Given the description of an element on the screen output the (x, y) to click on. 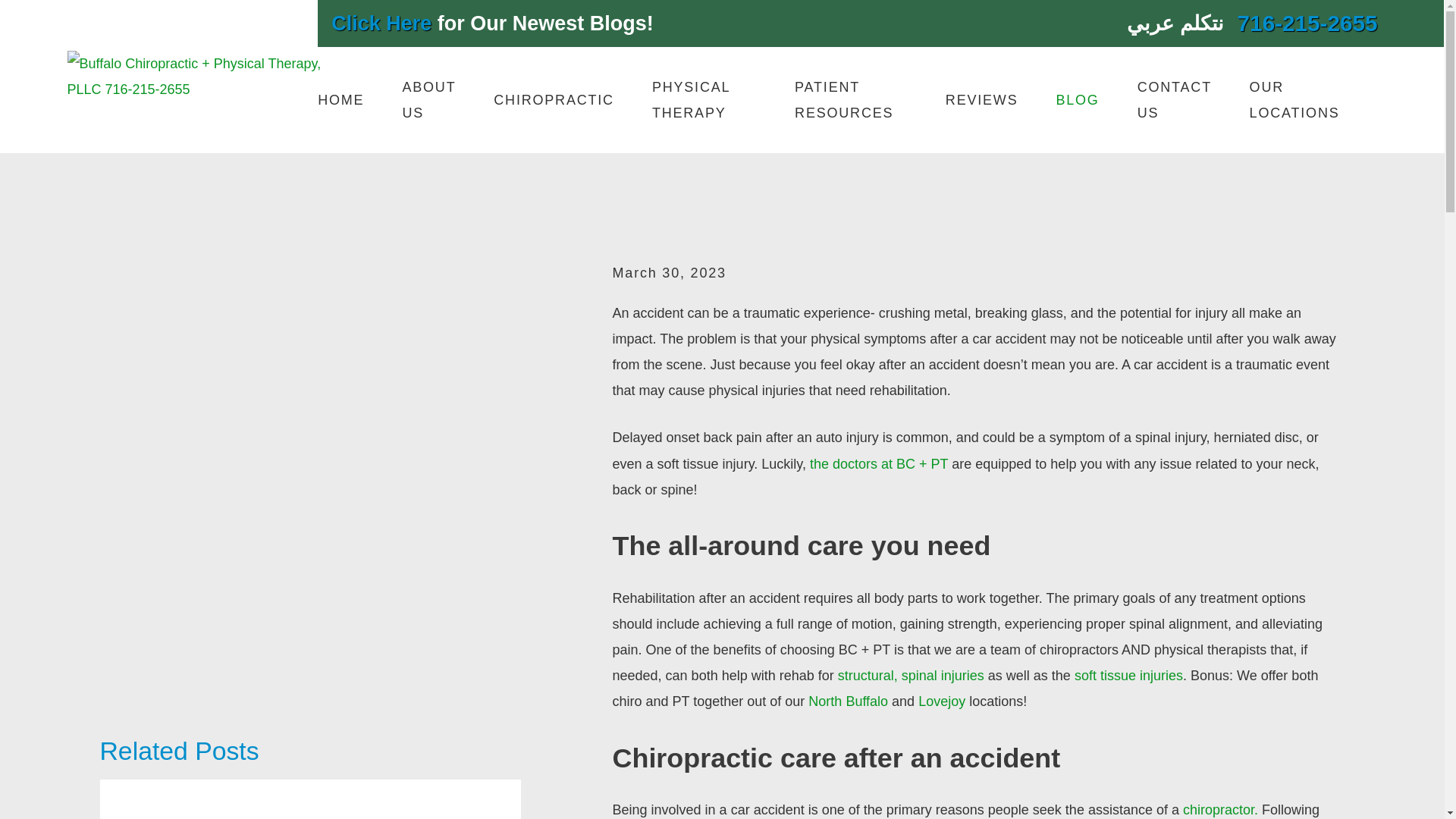
716-215-2655 (1307, 23)
Home (195, 76)
Click Here (380, 23)
CHIROPRACTIC (553, 99)
PHYSICAL THERAPY (704, 99)
